Given the description of an element on the screen output the (x, y) to click on. 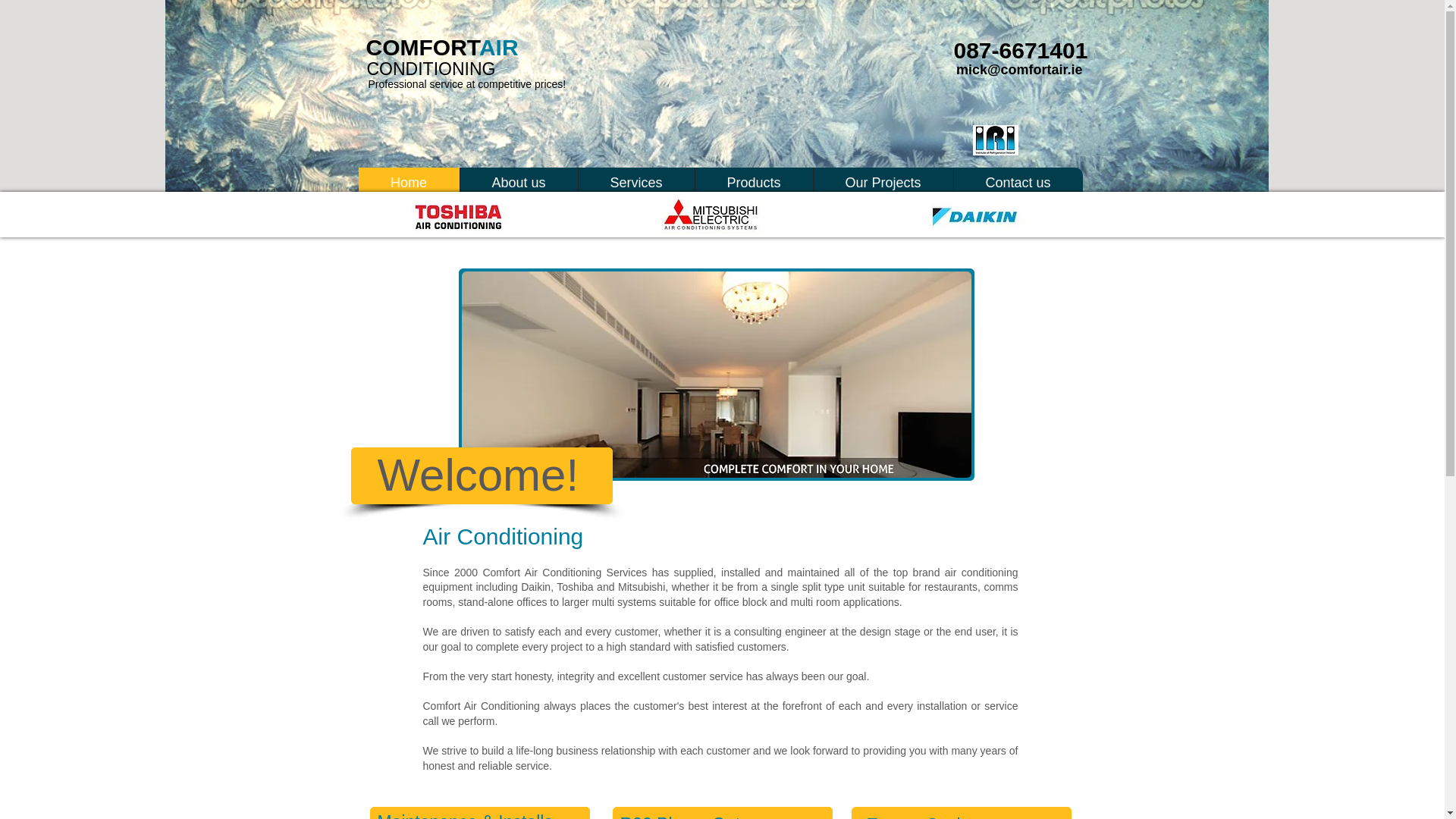
Home (408, 182)
Services (636, 182)
Products (753, 182)
Contact us (1016, 182)
Our Projects (882, 182)
About us (519, 182)
